Given the description of an element on the screen output the (x, y) to click on. 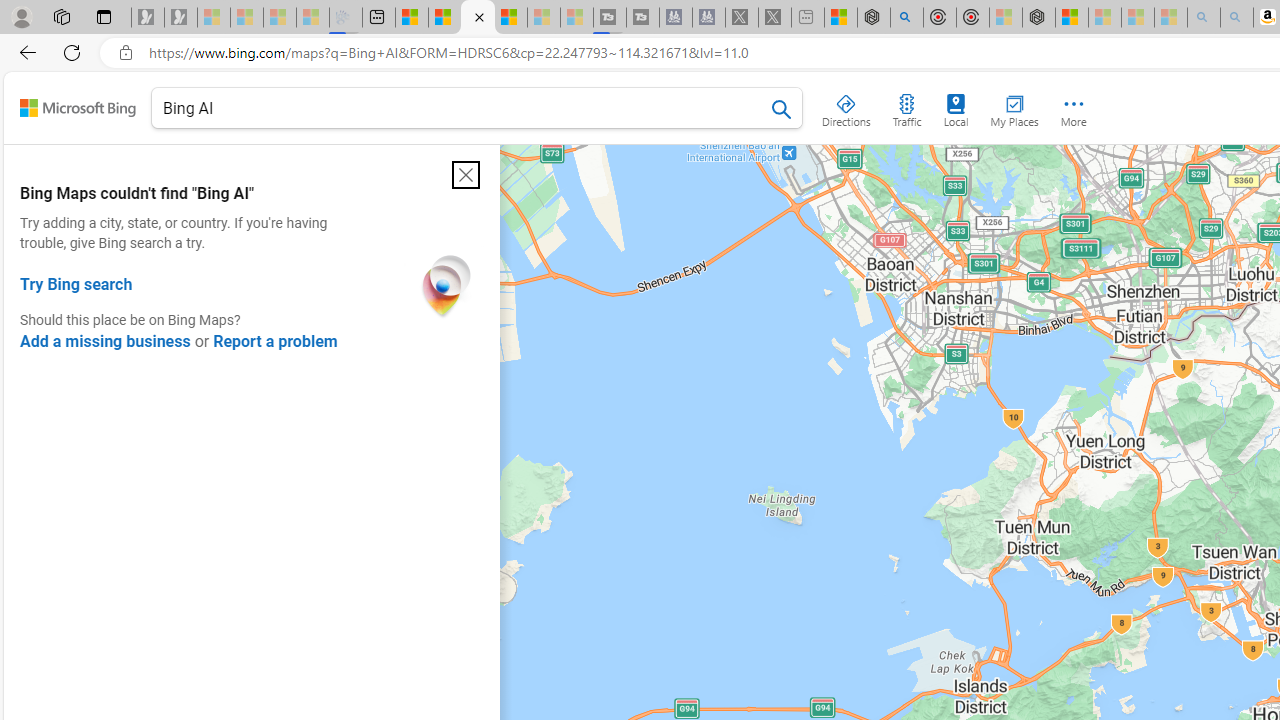
Bing AI - Bing Maps (478, 17)
Back to Bing search (77, 107)
Search Bing Maps (781, 109)
Traffic (906, 106)
Class: sbElement (77, 107)
More (1073, 106)
Newsletter Sign Up - Sleeping (181, 17)
My Places (1014, 106)
poe - Search (906, 17)
